Given the description of an element on the screen output the (x, y) to click on. 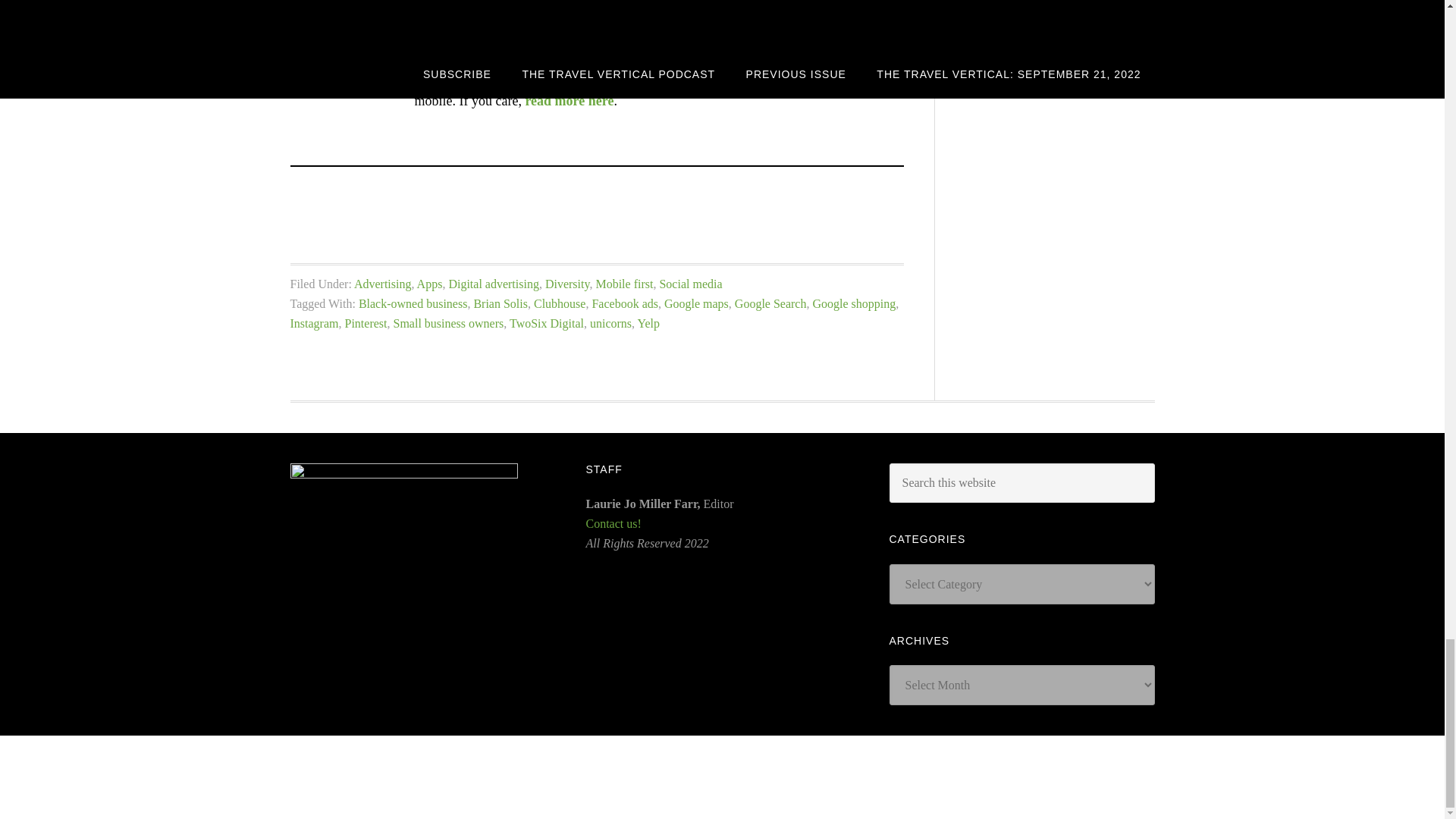
Diversity (566, 283)
Black-owned business (412, 303)
Digital advertising (493, 283)
Apps (429, 283)
Advertising (382, 283)
Mobile first (623, 283)
read more here (568, 100)
Social media (690, 283)
